Given the description of an element on the screen output the (x, y) to click on. 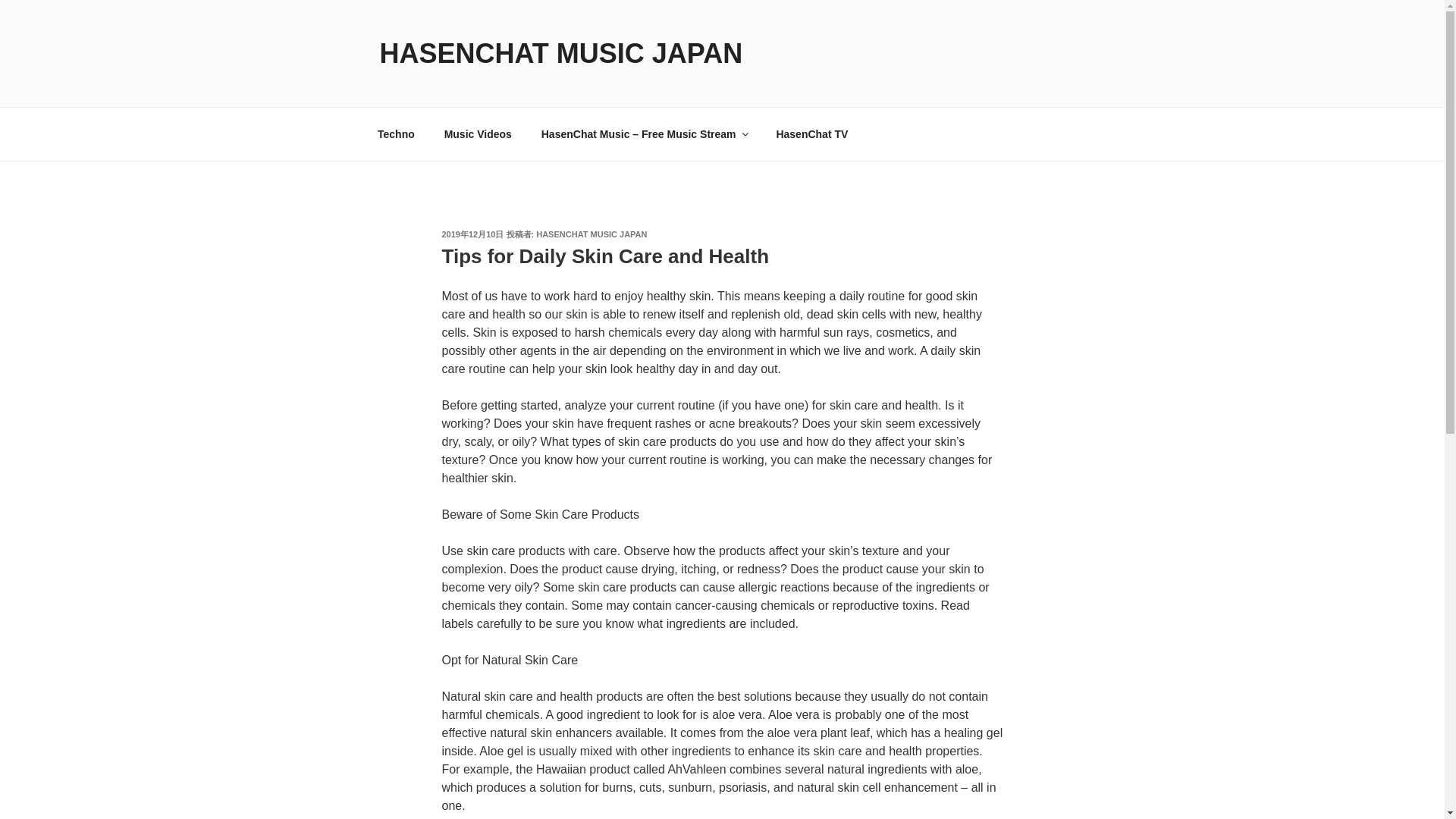
HASENCHAT MUSIC JAPAN (590, 234)
Techno (396, 133)
HASENCHAT MUSIC JAPAN (560, 52)
HasenChat TV (811, 133)
Music Videos (477, 133)
